Given the description of an element on the screen output the (x, y) to click on. 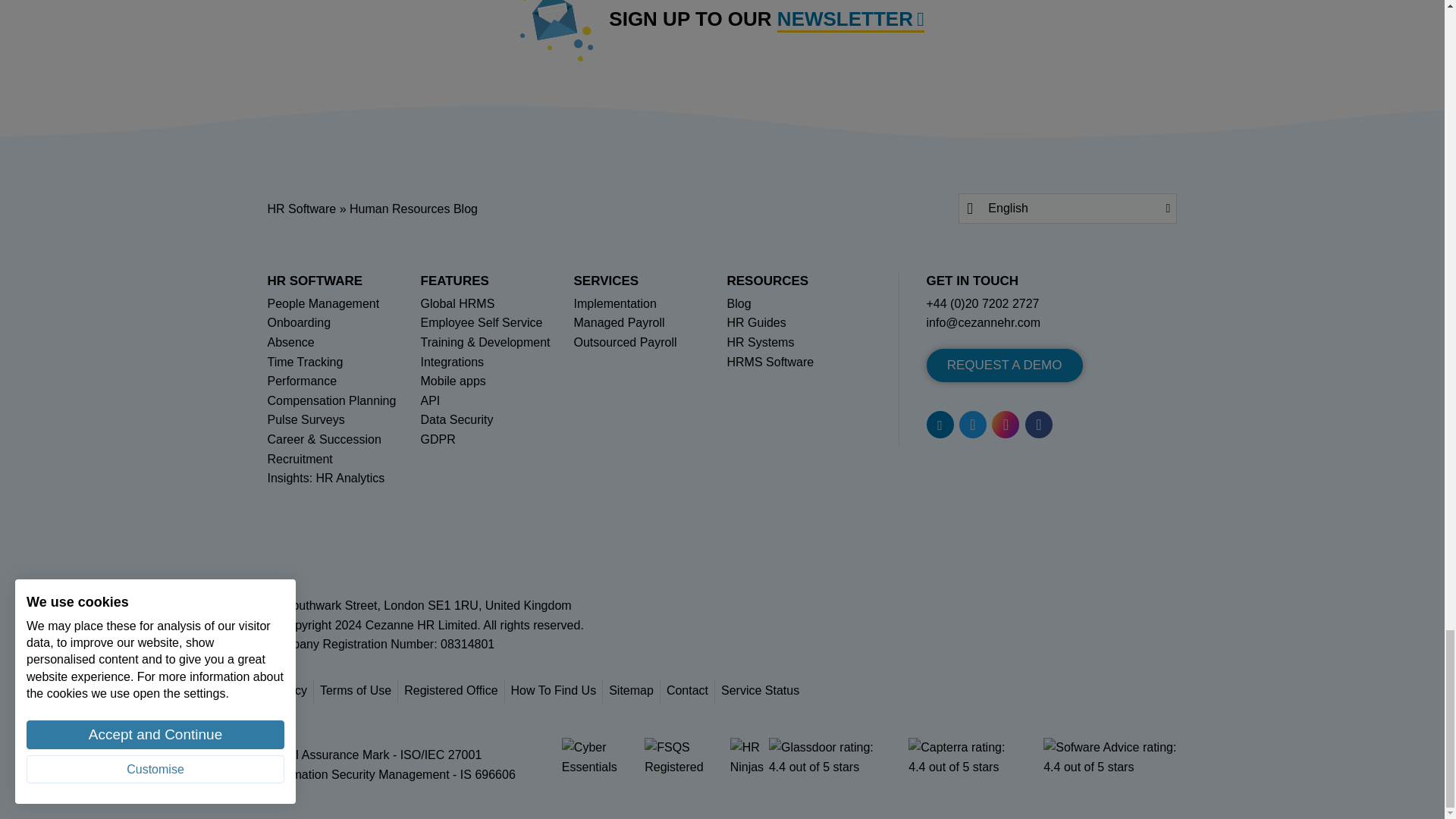
Cezanne HR (421, 625)
